Given the description of an element on the screen output the (x, y) to click on. 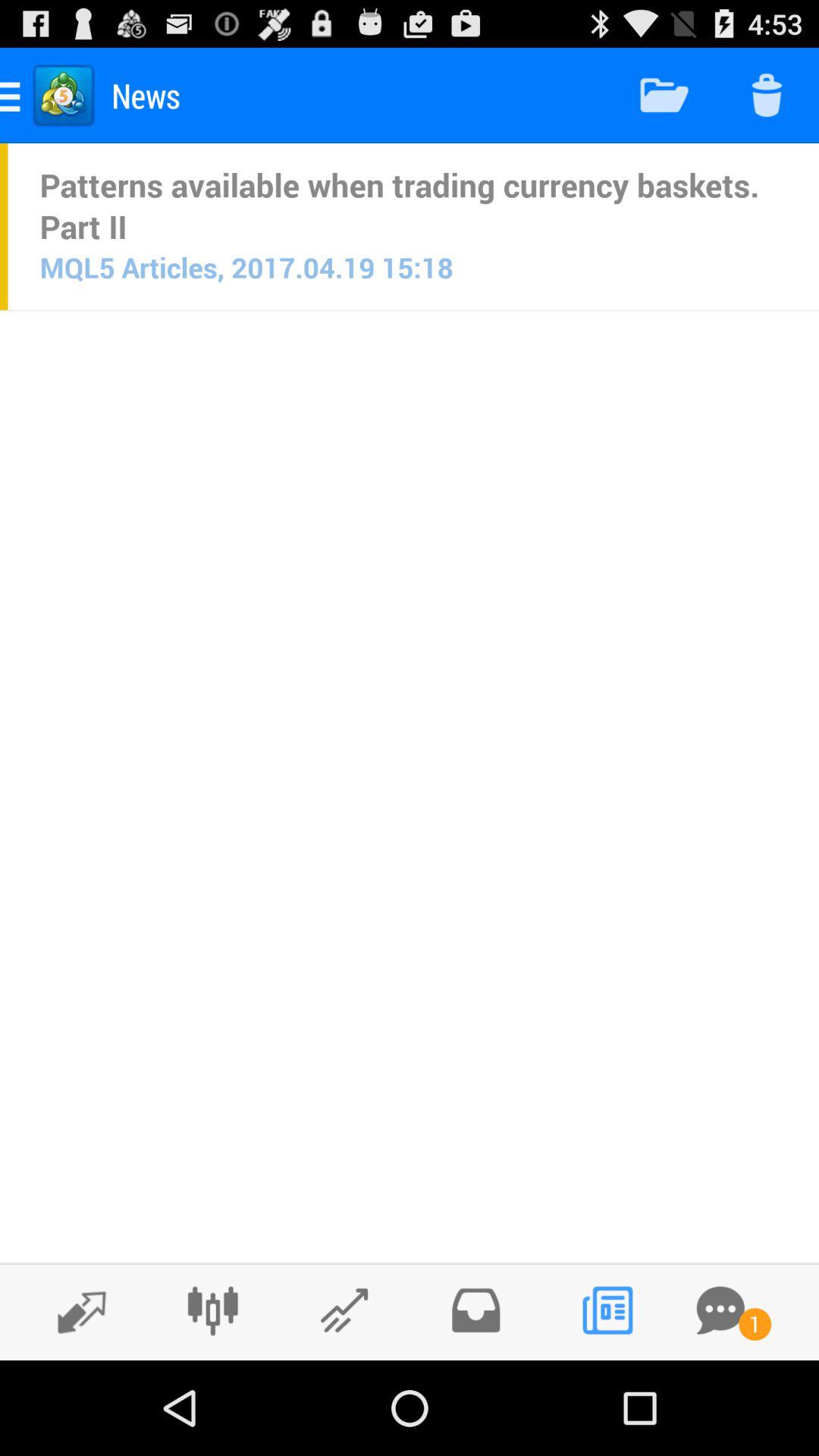
jump until the mql5 articles 2017 (246, 267)
